Given the description of an element on the screen output the (x, y) to click on. 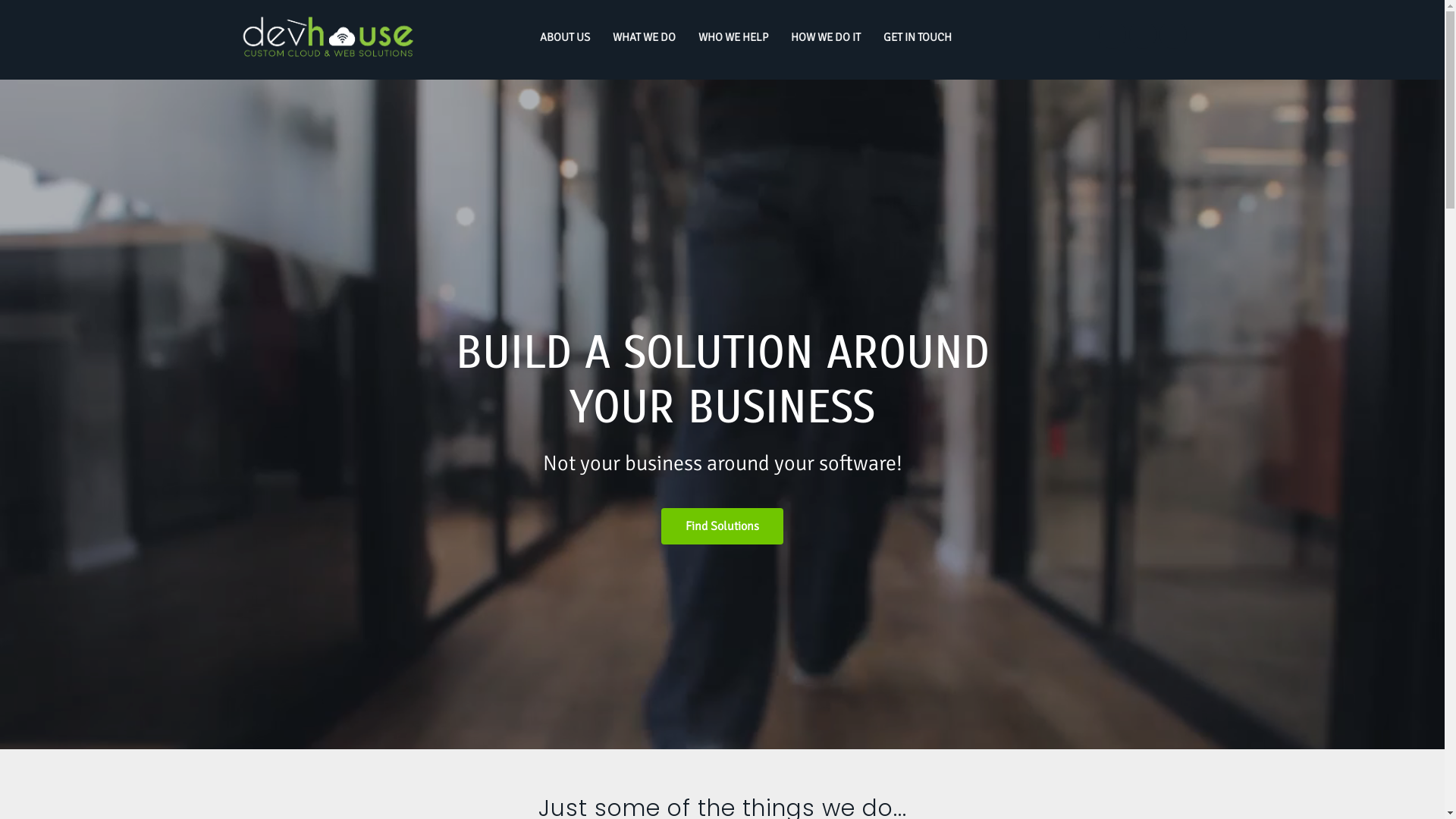
WHAT WE DO Element type: text (643, 37)
WHO WE HELP Element type: text (733, 37)
HOW WE DO IT Element type: text (825, 37)
Skip to main content Element type: text (7, 0)
DEVHOUSE Element type: text (267, 70)
Find Solutions Element type: text (722, 526)
ABOUT US Element type: text (563, 37)
GET IN TOUCH Element type: text (917, 37)
